Given the description of an element on the screen output the (x, y) to click on. 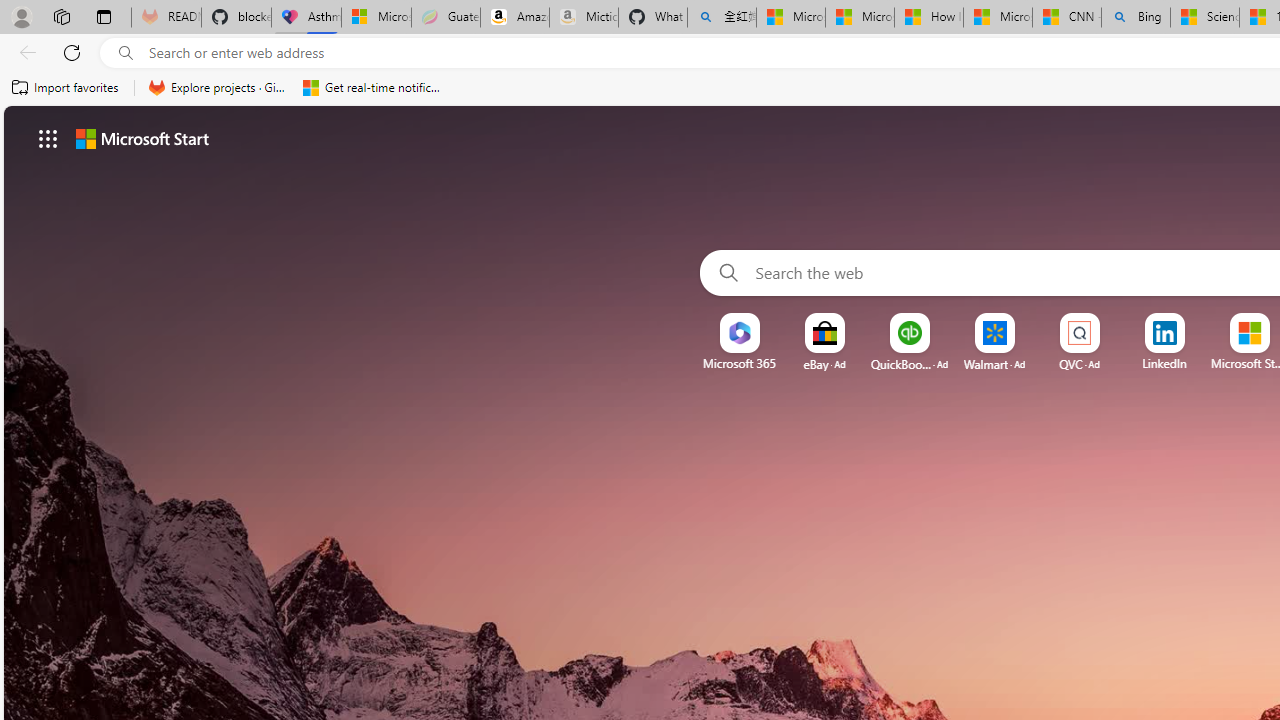
CNN - MSN (1066, 17)
LinkedIn (1163, 363)
Microsoft start (142, 138)
Search icon (125, 53)
